Given the description of an element on the screen output the (x, y) to click on. 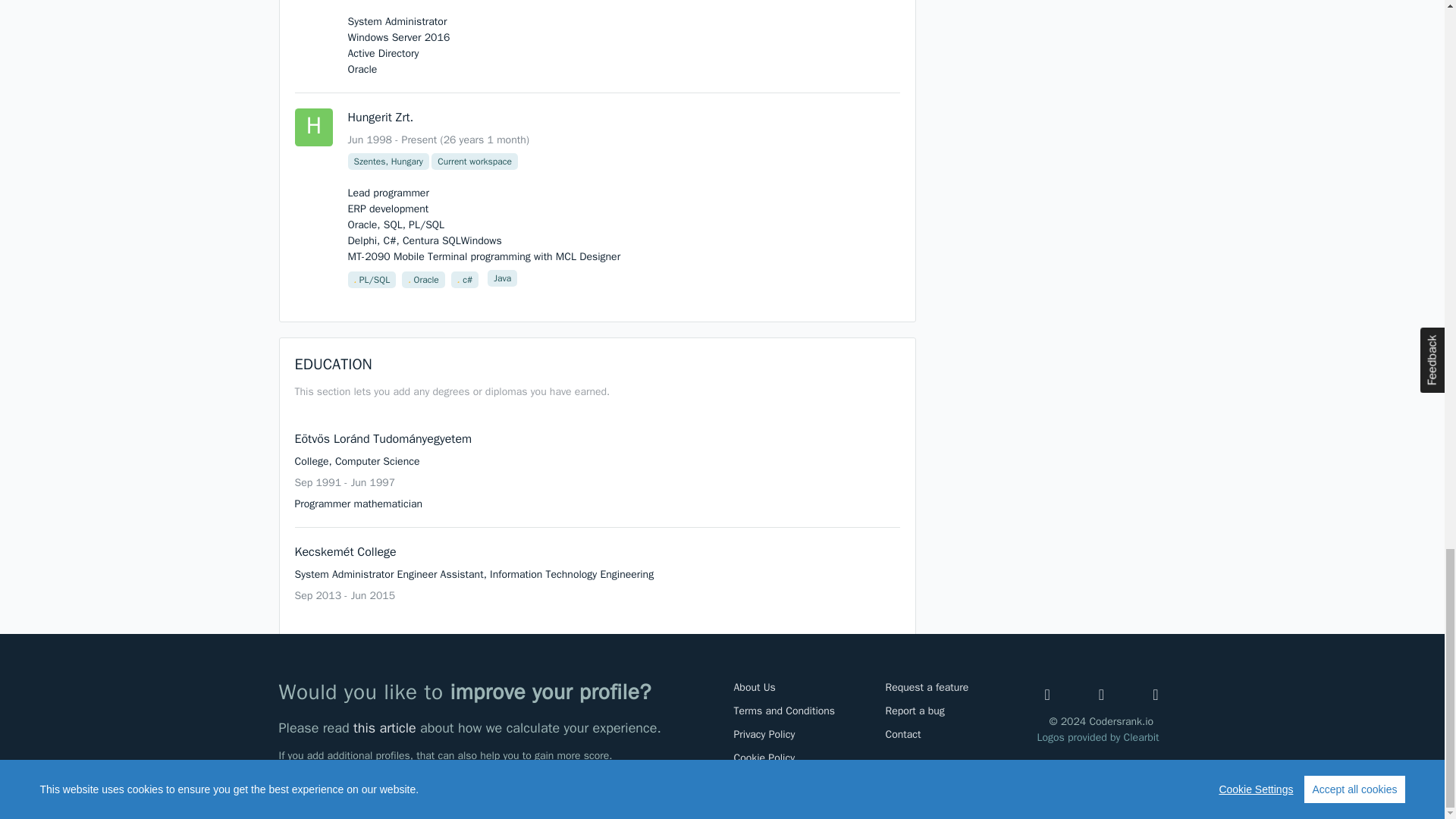
H (312, 127)
Hungerit Zrt. (312, 127)
